Given the description of an element on the screen output the (x, y) to click on. 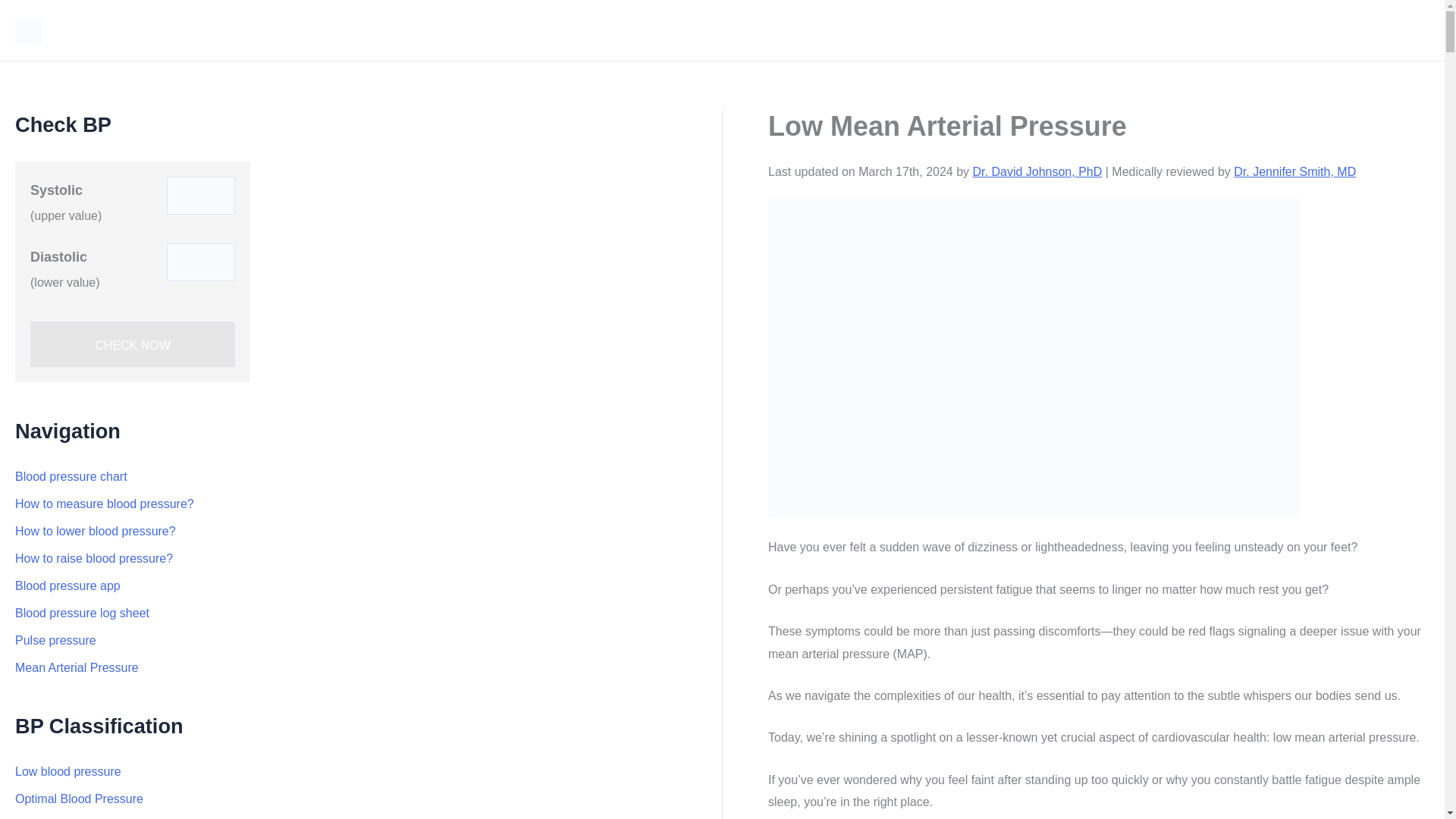
Low blood pressure (67, 771)
Blood pressure chart (71, 476)
Blood pressure log sheet (81, 612)
Pulse pressure (55, 640)
Home (1401, 30)
Mean Arterial Pressure (76, 667)
Blood pressure app (67, 585)
Dr. David Johnson, PhD (1037, 171)
Dr. Jennifer Smith, MD (1294, 171)
How to lower blood pressure? (95, 530)
How to measure blood pressure? (103, 503)
Blood Pressure Guide (137, 29)
How to raise blood pressure? (93, 558)
CHECK NOW (132, 343)
Optimal Blood Pressure (78, 798)
